Given the description of an element on the screen output the (x, y) to click on. 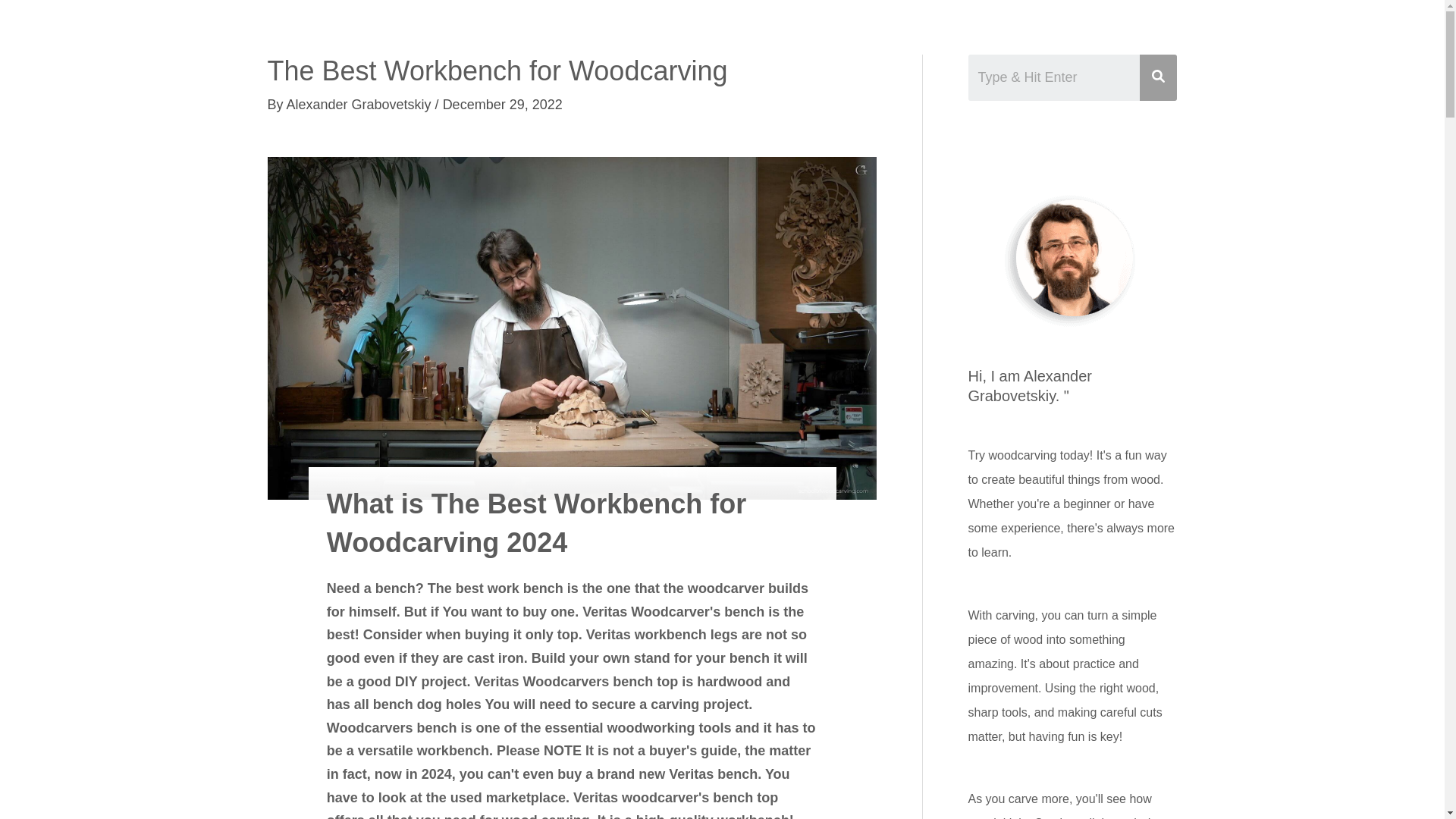
Alexander Grabovetskiy (360, 104)
Search (1054, 77)
View all posts by Alexander Grabovetskiy (360, 104)
